Given the description of an element on the screen output the (x, y) to click on. 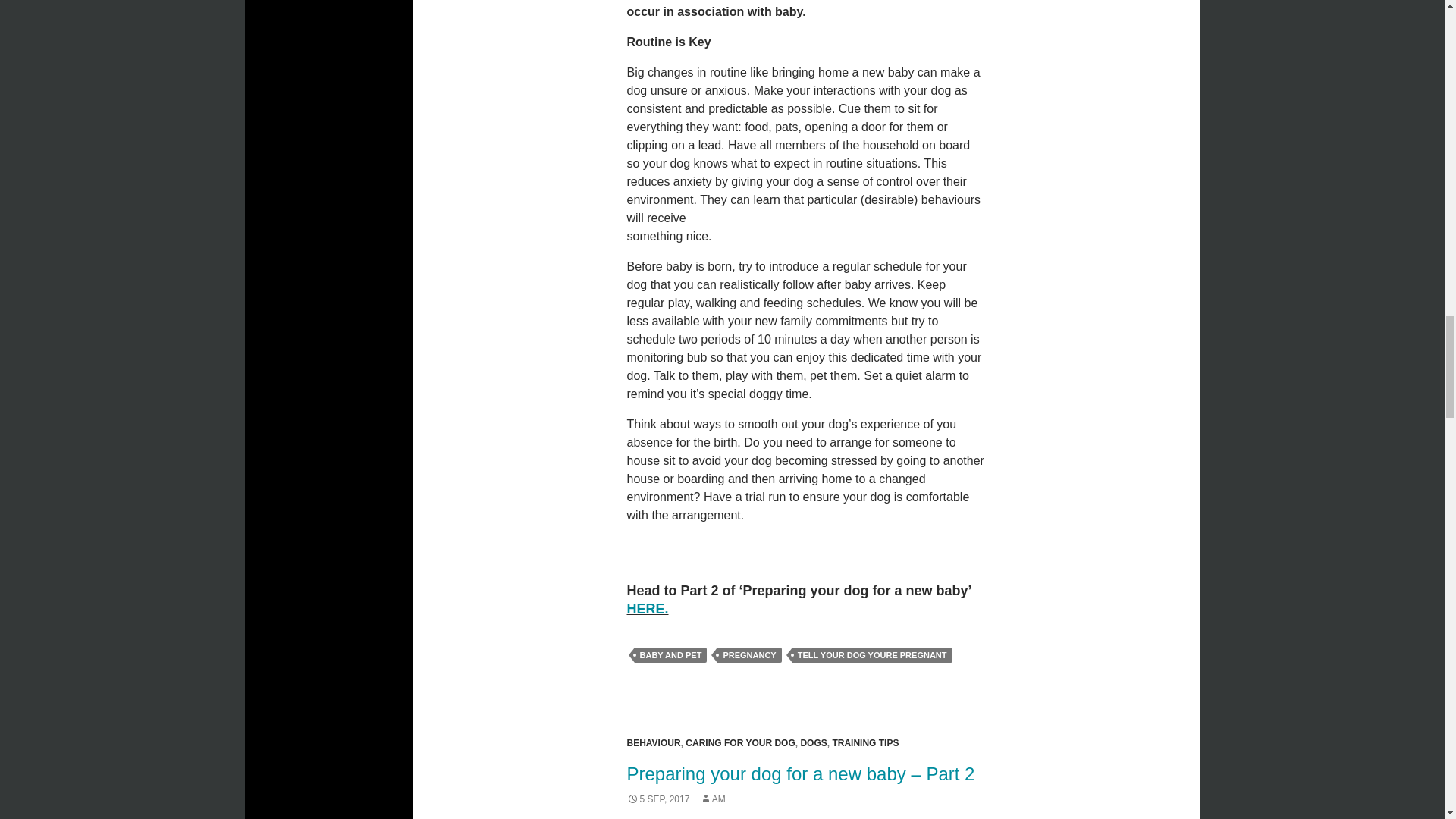
TELL YOUR DOG YOURE PREGNANT (872, 654)
CARING FOR YOUR DOG (739, 742)
HERE. (647, 608)
BABY AND PET (669, 654)
AM (712, 798)
TRAINING TIPS (864, 742)
DOGS (813, 742)
BEHAVIOUR (652, 742)
PREGNANCY (748, 654)
5 SEP, 2017 (657, 798)
